Given the description of an element on the screen output the (x, y) to click on. 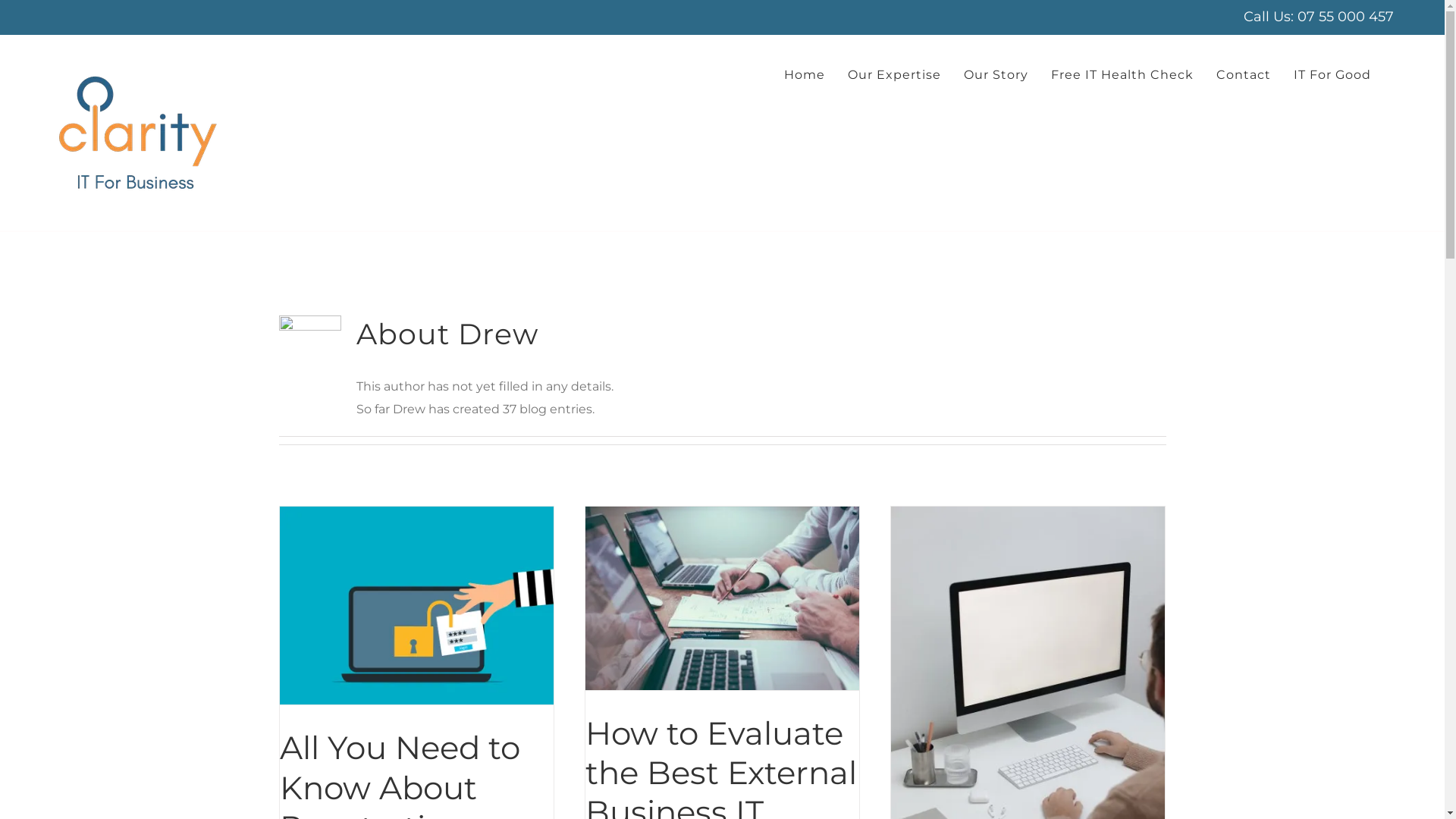
Home Element type: text (804, 74)
Free IT Health Check Element type: text (1122, 74)
Contact Element type: text (1243, 74)
IT For Good Element type: text (1332, 74)
Call Us: 07 55 000 457 Element type: text (1318, 16)
Our Expertise Element type: text (894, 74)
Our Story Element type: text (995, 74)
